Given the description of an element on the screen output the (x, y) to click on. 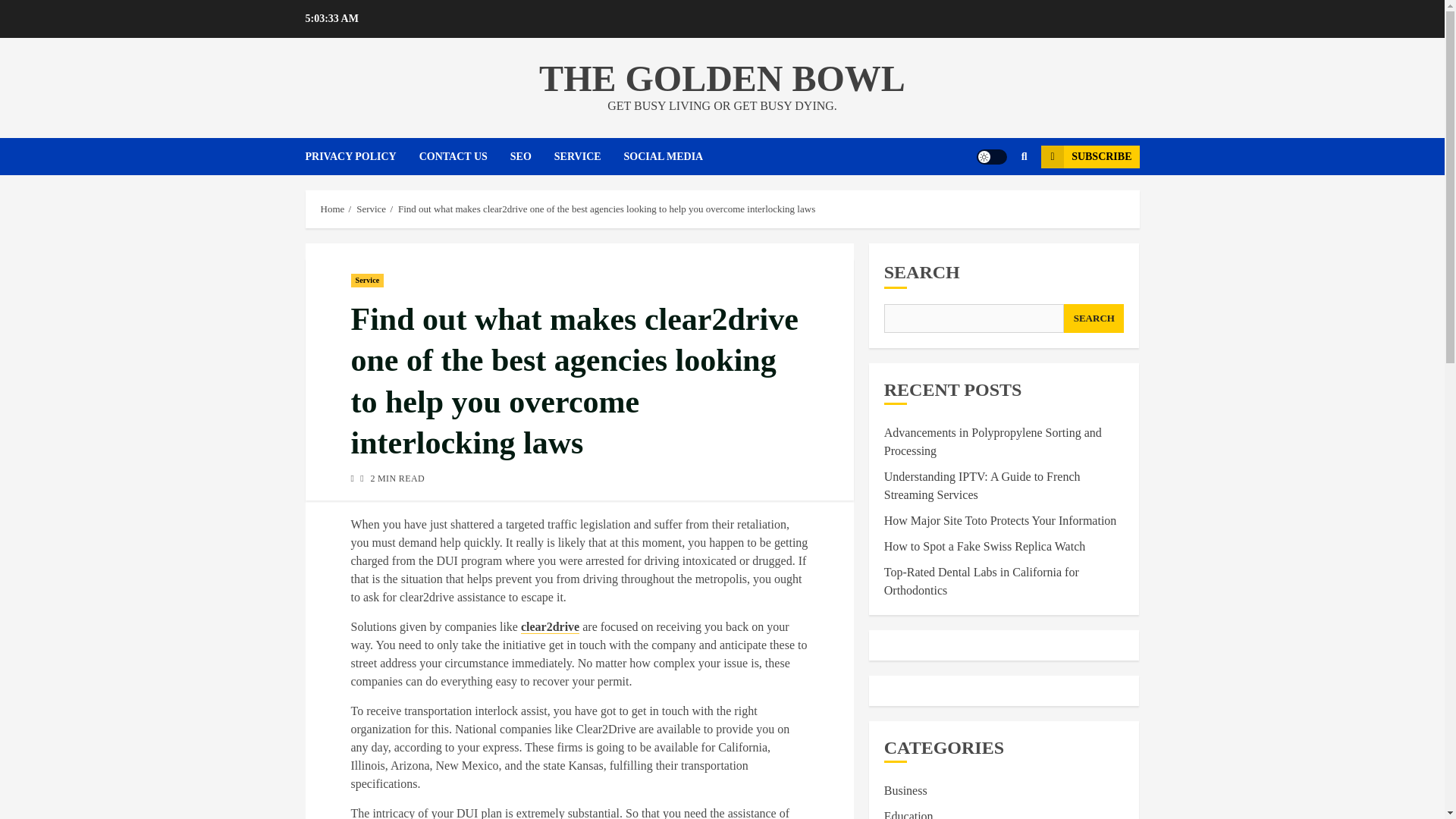
Business (905, 790)
How Major Site Toto Protects Your Information (999, 520)
PRIVACY POLICY (361, 156)
SUBSCRIBE (1089, 156)
Service (367, 279)
SOCIAL MEDIA (675, 156)
Home (331, 209)
CONTACT US (465, 156)
SEO (532, 156)
Advancements in Polypropylene Sorting and Processing (992, 441)
